Given the description of an element on the screen output the (x, y) to click on. 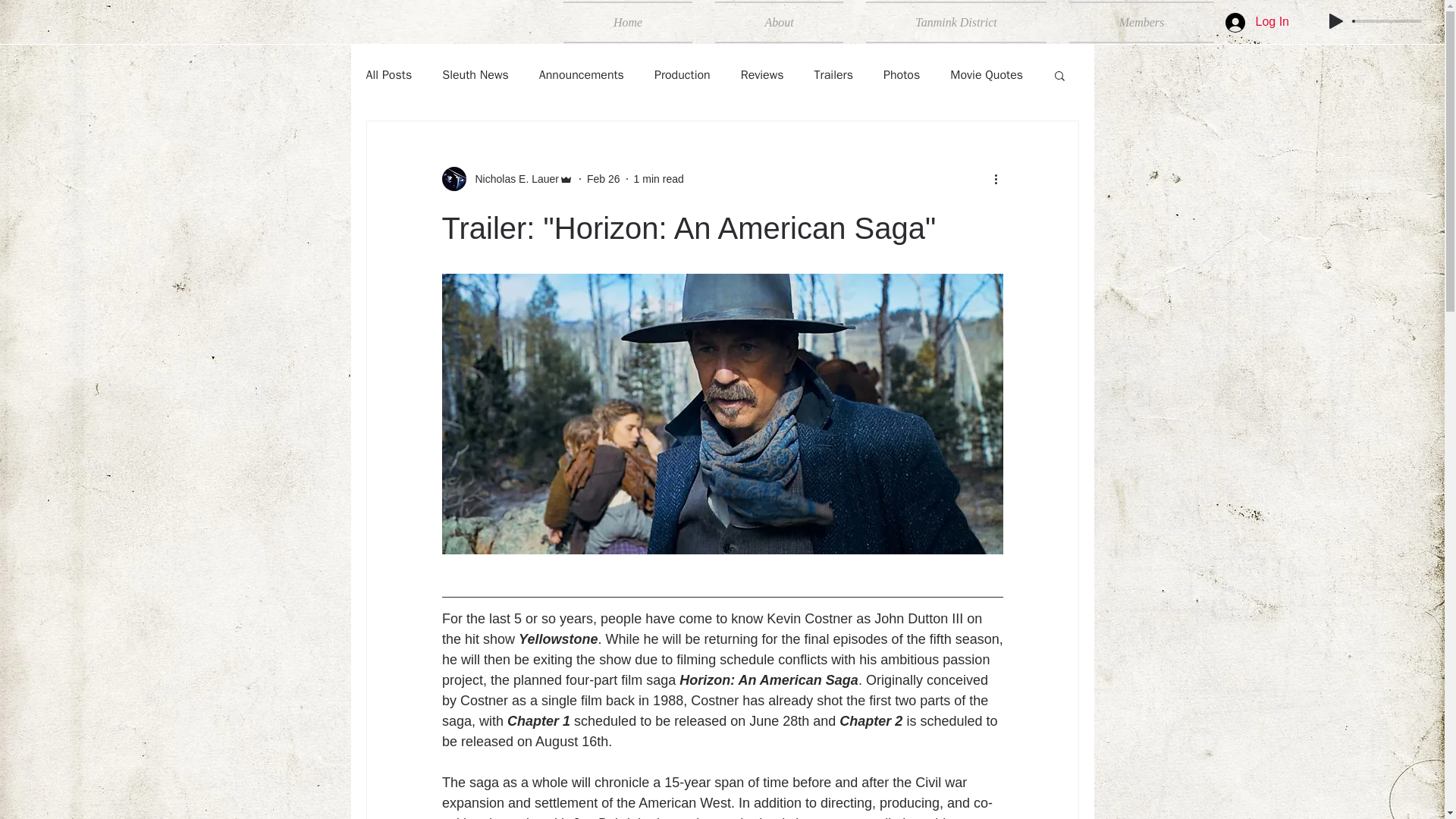
Trailers (833, 74)
Feb 26 (603, 178)
Announcements (581, 74)
Nicholas E. Lauer (507, 178)
All Posts (388, 74)
Photos (901, 74)
Home (633, 22)
Log In (1257, 21)
Movie Quotes (986, 74)
0 (1388, 20)
